Given the description of an element on the screen output the (x, y) to click on. 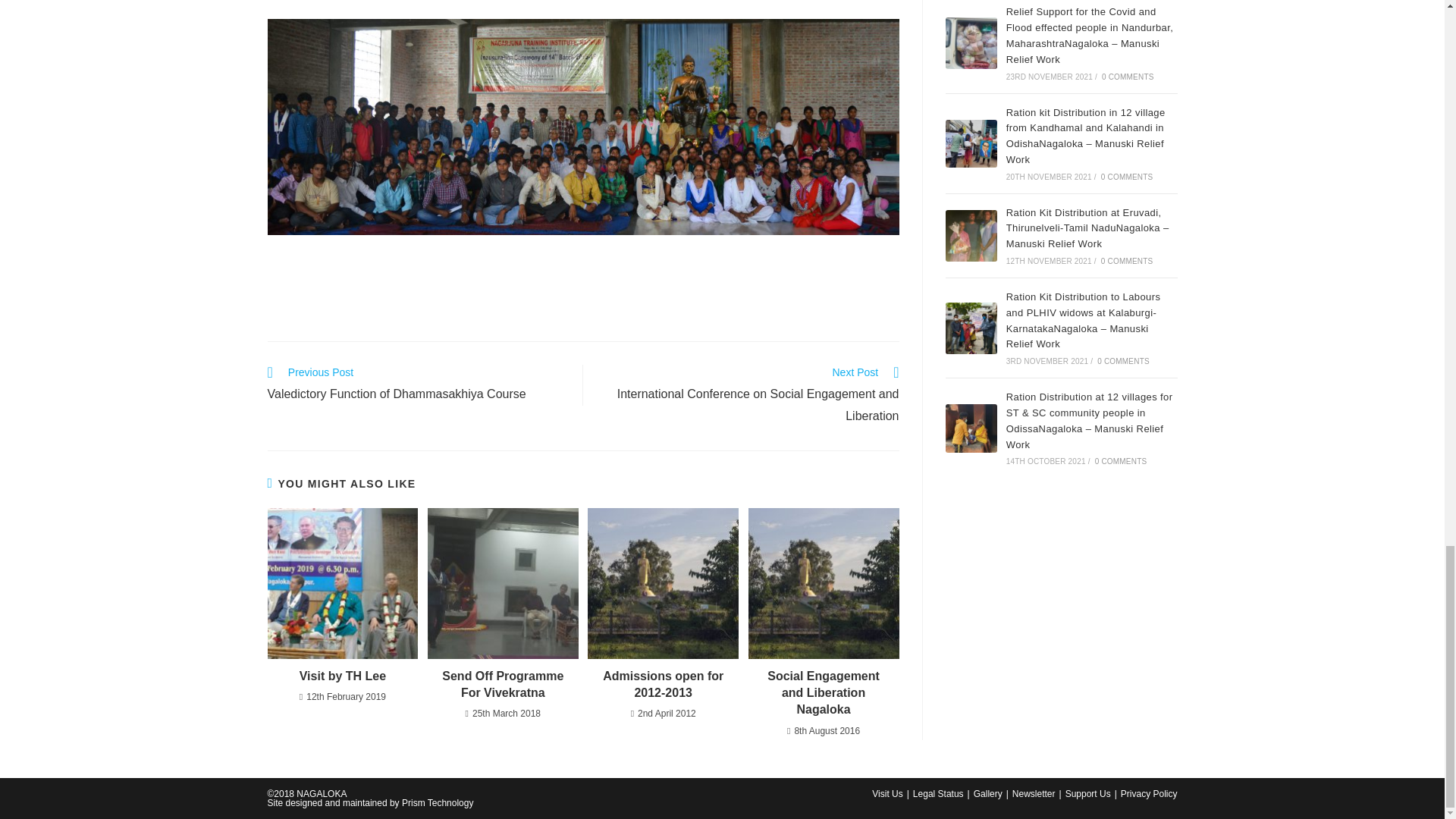
Admissions open for 2012-2013 (662, 684)
Visit by TH Lee (342, 676)
Send Off Programme For Vivekratna (502, 684)
Social Engagement and Liberation Nagaloka (823, 693)
